Given the description of an element on the screen output the (x, y) to click on. 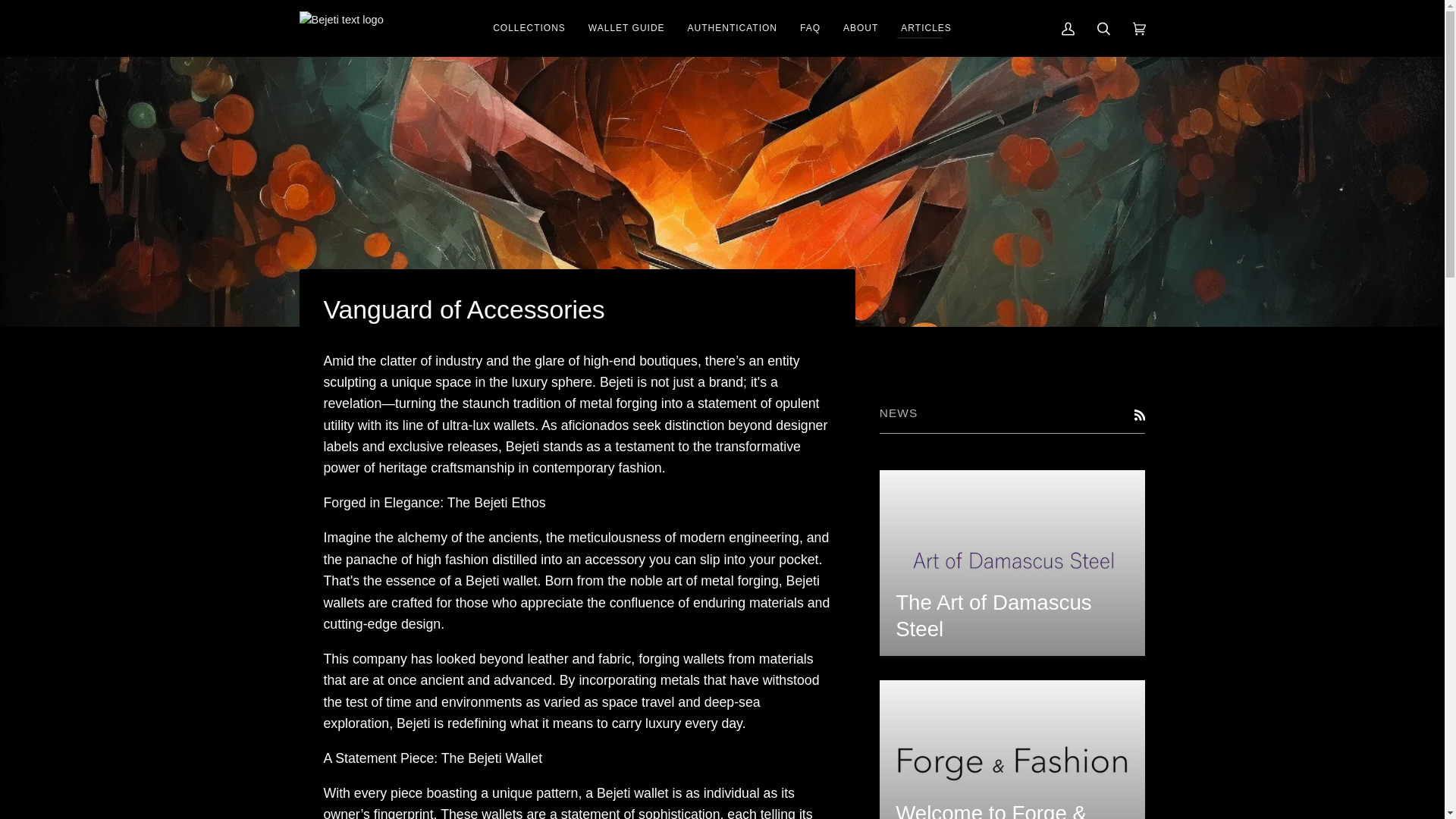
AUTHENTICATION (733, 28)
WALLET GUIDE (626, 28)
ARTICLES (925, 28)
ABOUT (860, 28)
COLLECTIONS (528, 28)
